Given the description of an element on the screen output the (x, y) to click on. 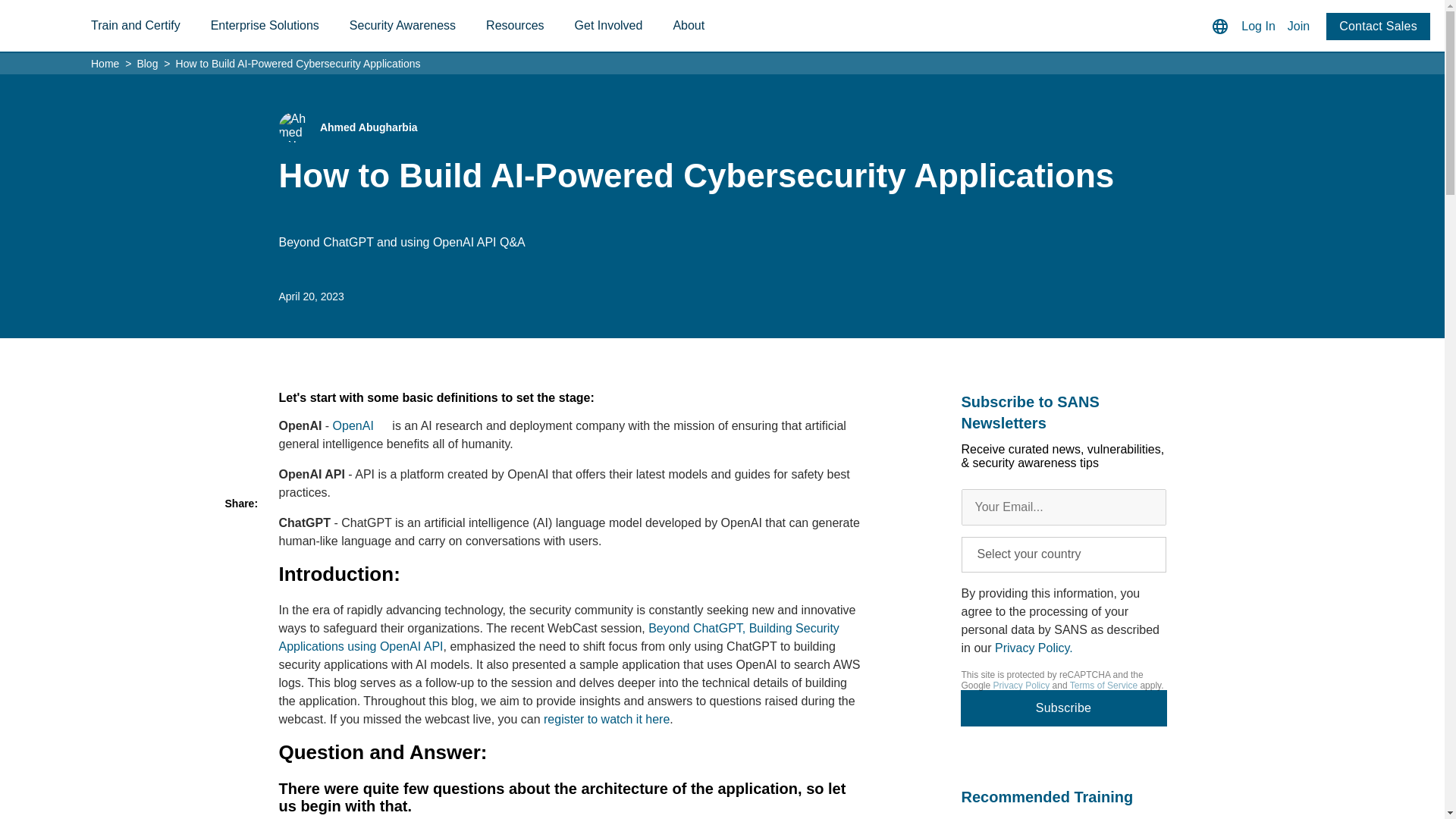
homepage (60, 26)
LinkedIn (239, 560)
Facebook (239, 589)
Twitter (239, 531)
Train and Certify (135, 25)
homepage (60, 26)
Subscribe (1063, 708)
Copy to clipboard (239, 618)
